Given the description of an element on the screen output the (x, y) to click on. 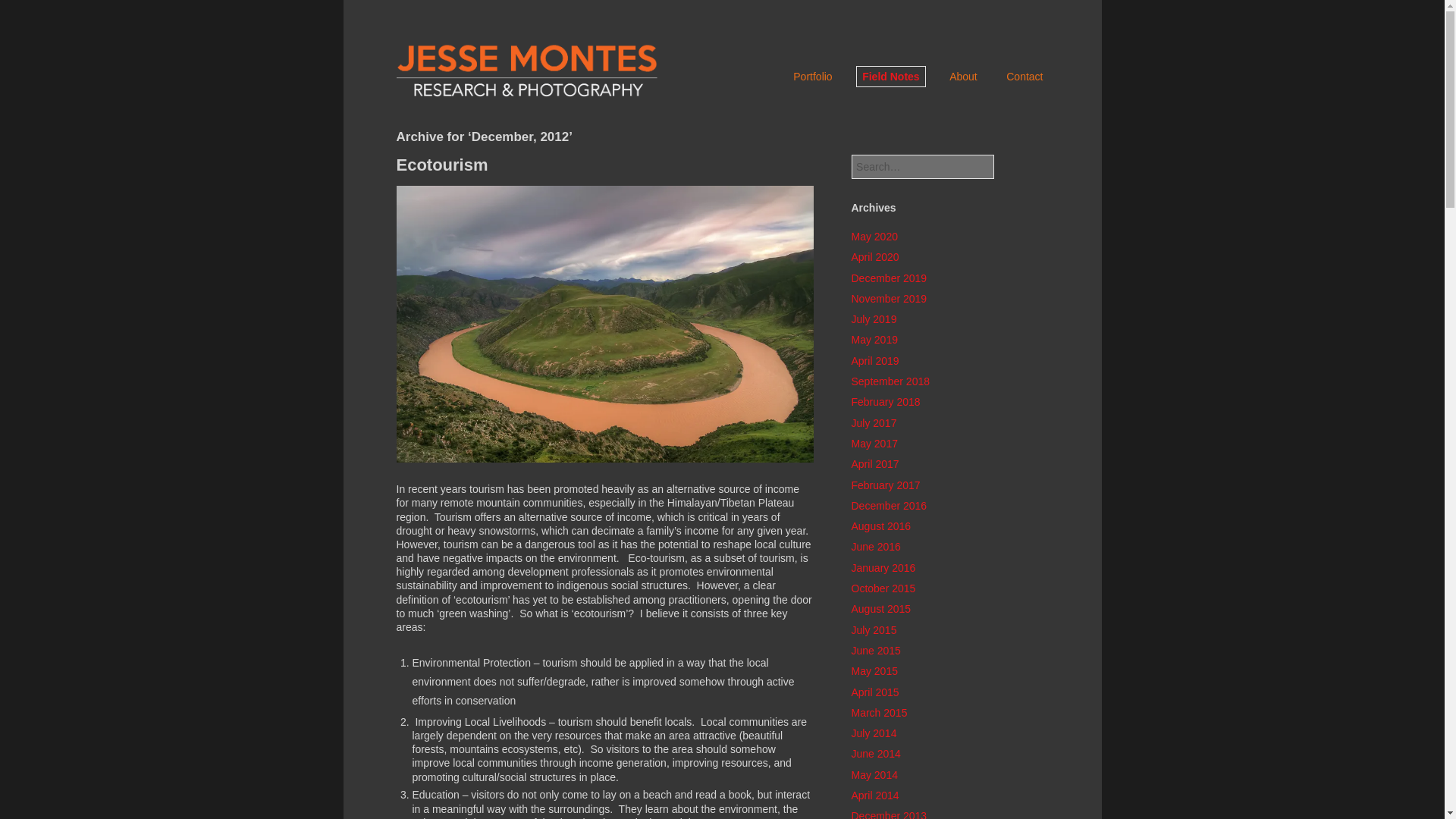
May 2020 (873, 236)
Portfolio (812, 76)
August 2016 (880, 526)
February 2017 (885, 485)
June 2015 (874, 650)
April 2017 (874, 463)
December 2016 (888, 505)
April 2020 (874, 256)
Field Notes (890, 76)
July 2017 (873, 422)
